Given the description of an element on the screen output the (x, y) to click on. 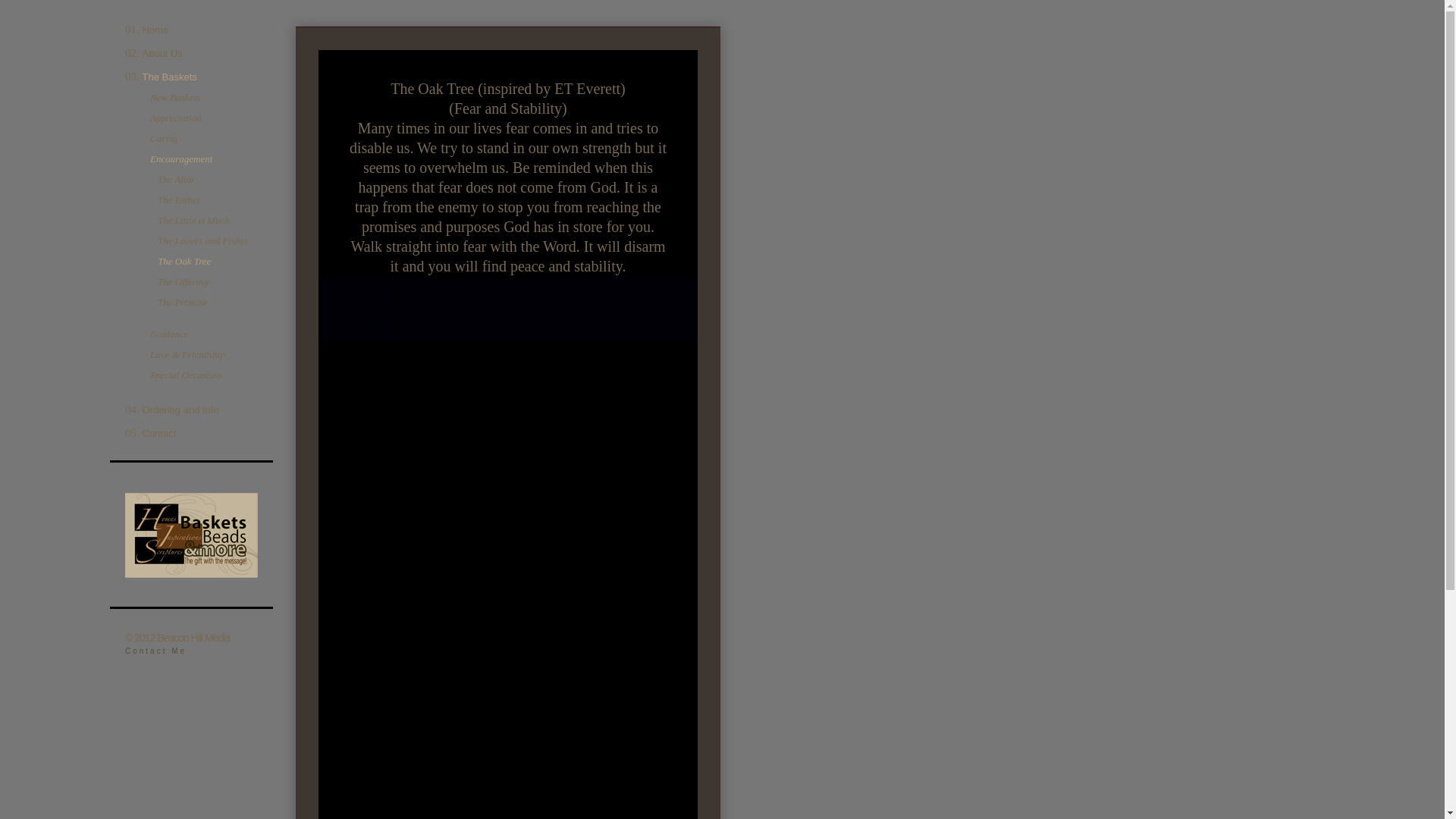
Home (155, 30)
The Little is Much (193, 220)
The Promise (182, 301)
The Esther (178, 199)
New Baskets (174, 97)
The Offering (182, 281)
The Baskets (169, 76)
About Us (162, 52)
The Altar (176, 179)
Appreciation (174, 117)
